Given the description of an element on the screen output the (x, y) to click on. 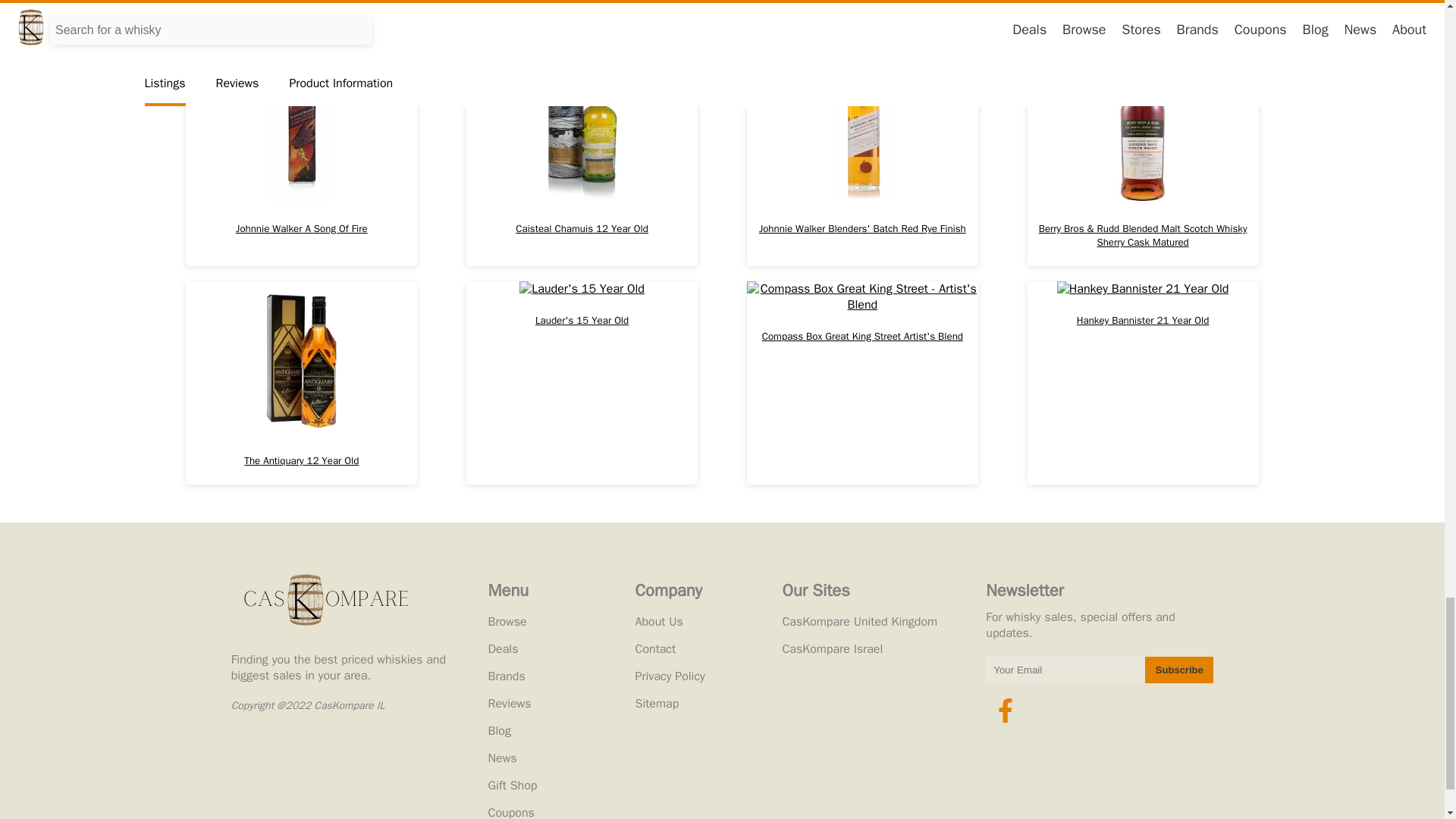
The Antiquary 12 Year Old (301, 382)
Johnnie Walker A Song Of Fire (301, 157)
Dewar's White Label (1143, 16)
Compass Box Great King Street Artist's Blend (862, 382)
Caisteal Chamuis 12 Year Old (581, 157)
Cutty Sark Storm (581, 16)
Cutty Sark Blended Scotch Whisky (862, 16)
Lauder's 15 Year Old (581, 382)
Johnnie Walker Blenders' Batch Red Rye Finish (862, 157)
Cutty Sark Prohibition Edition Blended Scotch Whisky (301, 16)
